Given the description of an element on the screen output the (x, y) to click on. 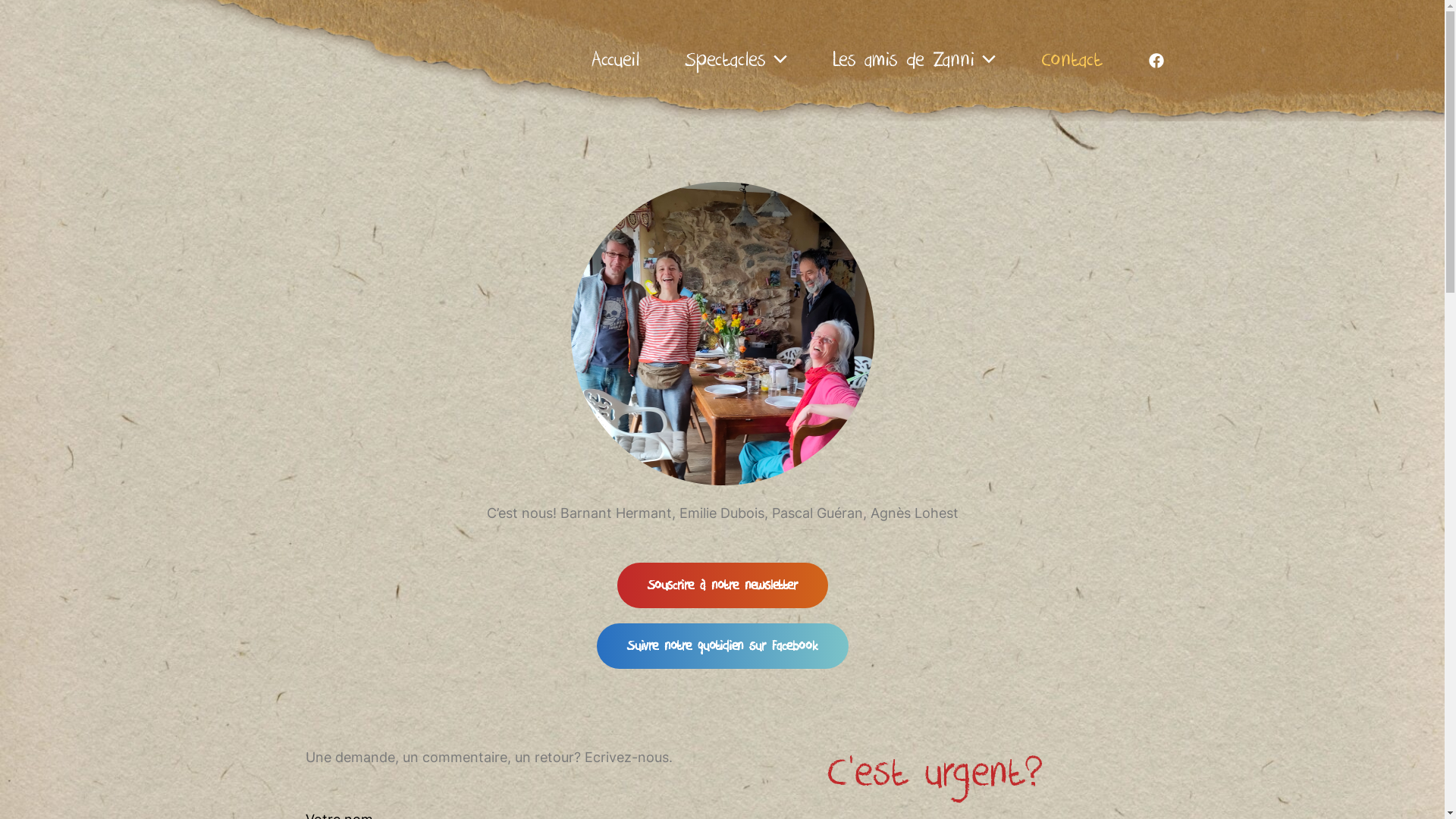
Suivre notre quotidien sur Facebook Element type: text (721, 645)
Accueil Element type: text (614, 60)
Contact Element type: text (1070, 60)
Les amis de Zanni Element type: text (913, 60)
HP_DSF2846_balai_horizontal Element type: hover (721, 333)
Spectacles Element type: text (735, 60)
